Given the description of an element on the screen output the (x, y) to click on. 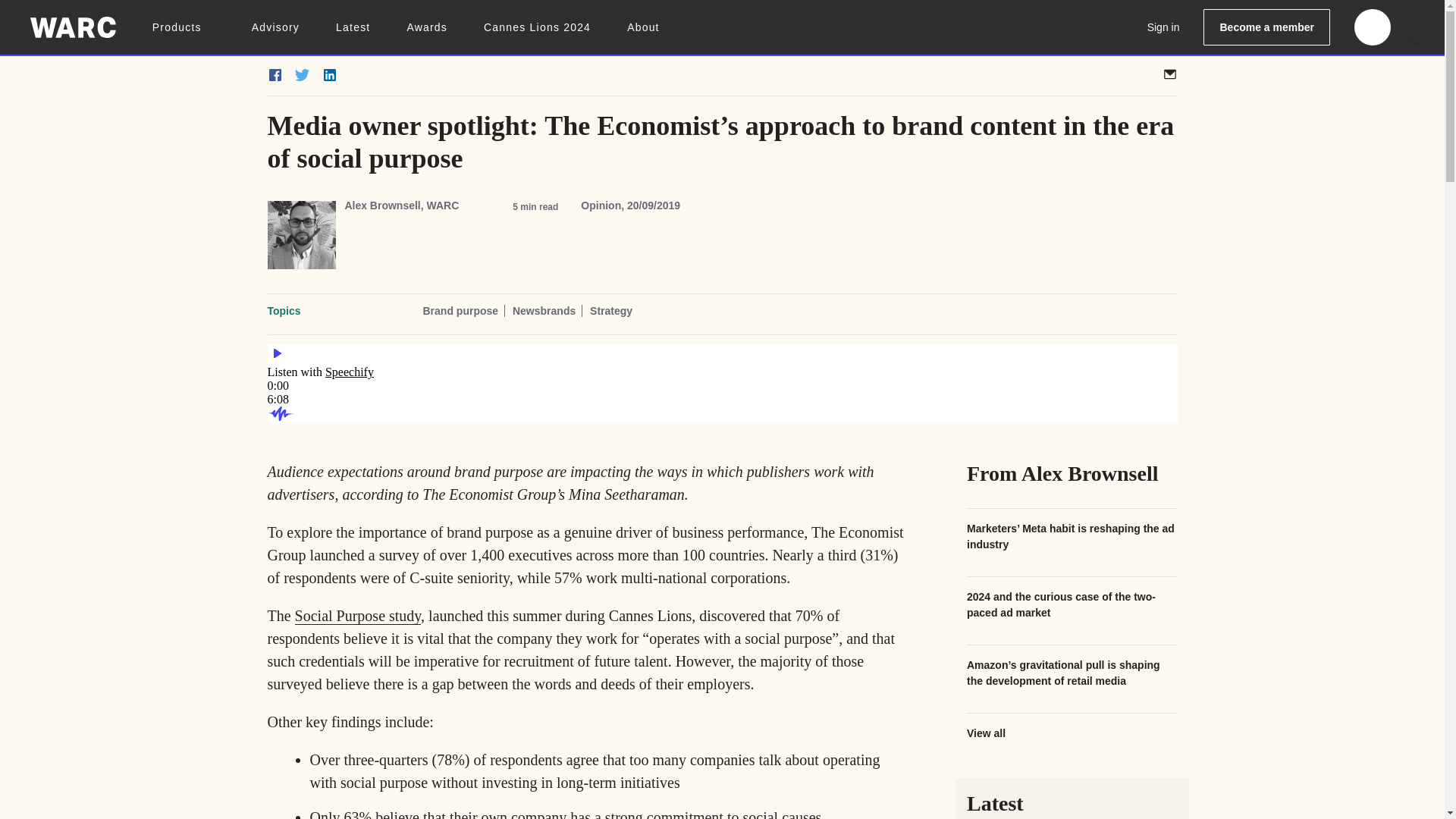
Latest (352, 27)
Cannes Lions 2024 (537, 27)
Awards (426, 27)
Products (183, 27)
Advisory (275, 27)
About (643, 27)
Sign in (1163, 27)
Become a member (1267, 27)
